Given the description of an element on the screen output the (x, y) to click on. 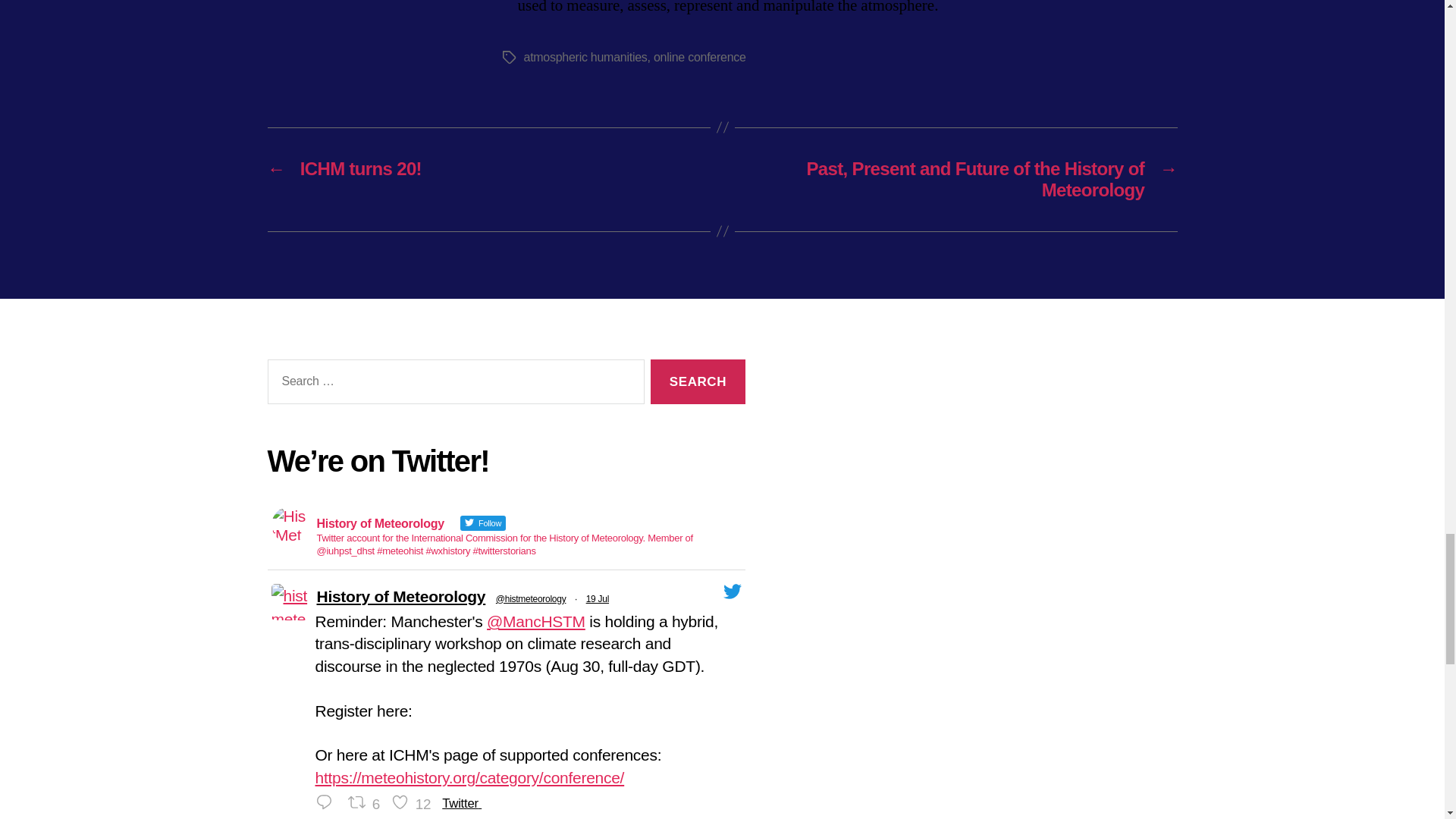
Search (697, 381)
atmospheric humanities (584, 56)
History of Meteorology (401, 596)
online conference (699, 56)
Search (697, 381)
Search (697, 381)
